Given the description of an element on the screen output the (x, y) to click on. 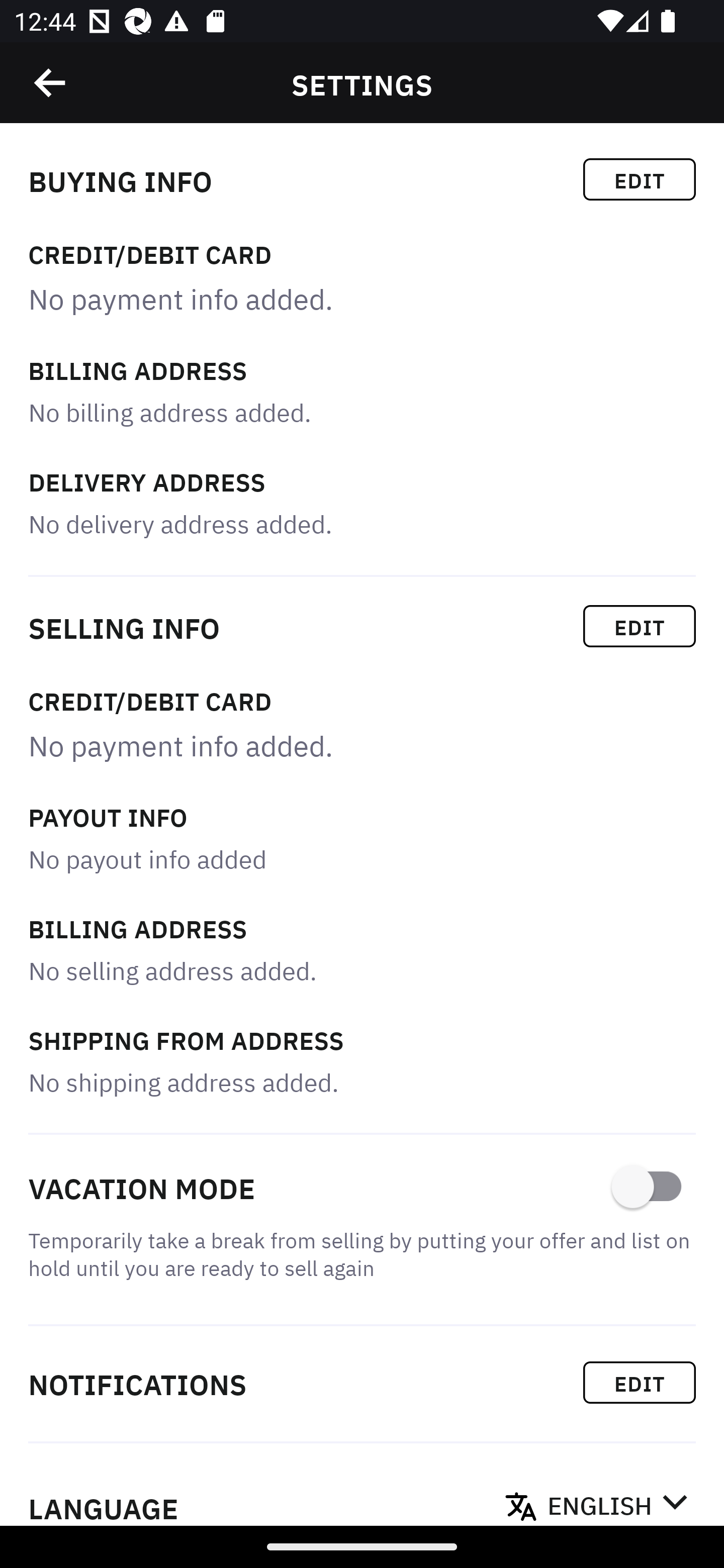
 (50, 83)
EDIT (639, 179)
EDIT (639, 626)
EDIT (639, 1382)
ENGLISH  (617, 1499)
